Given the description of an element on the screen output the (x, y) to click on. 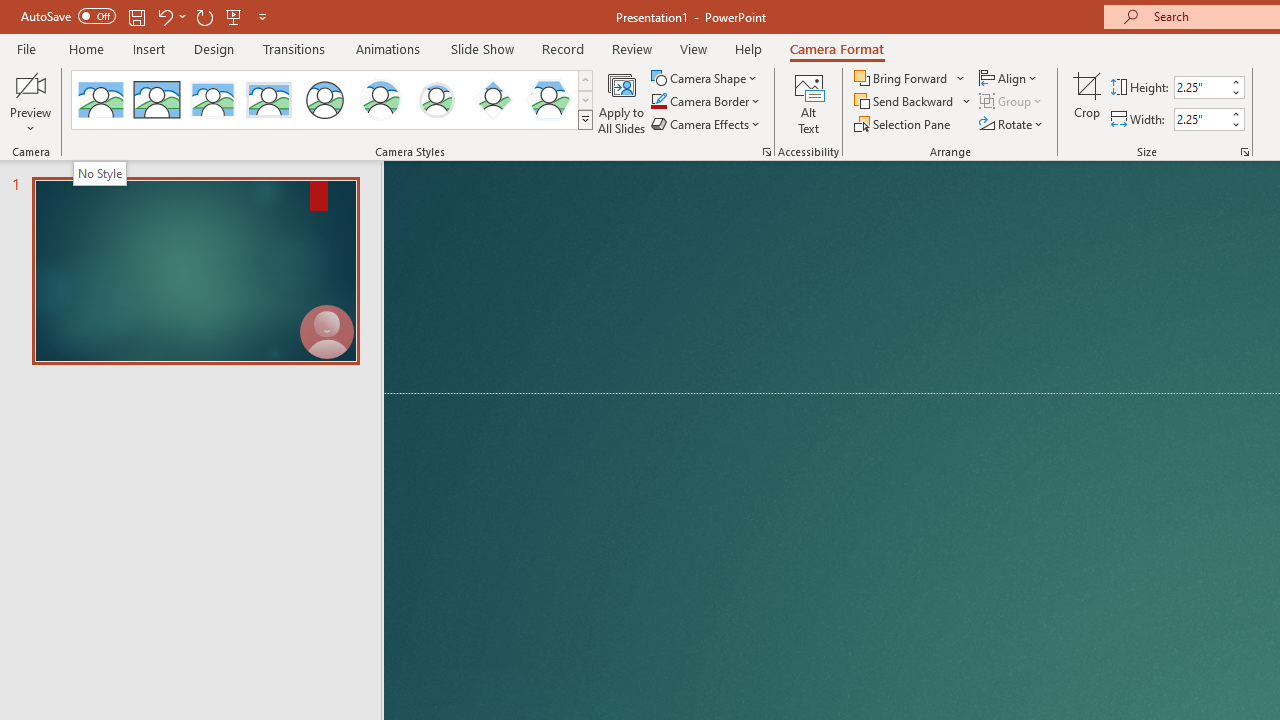
Bring Forward (910, 78)
